Given the description of an element on the screen output the (x, y) to click on. 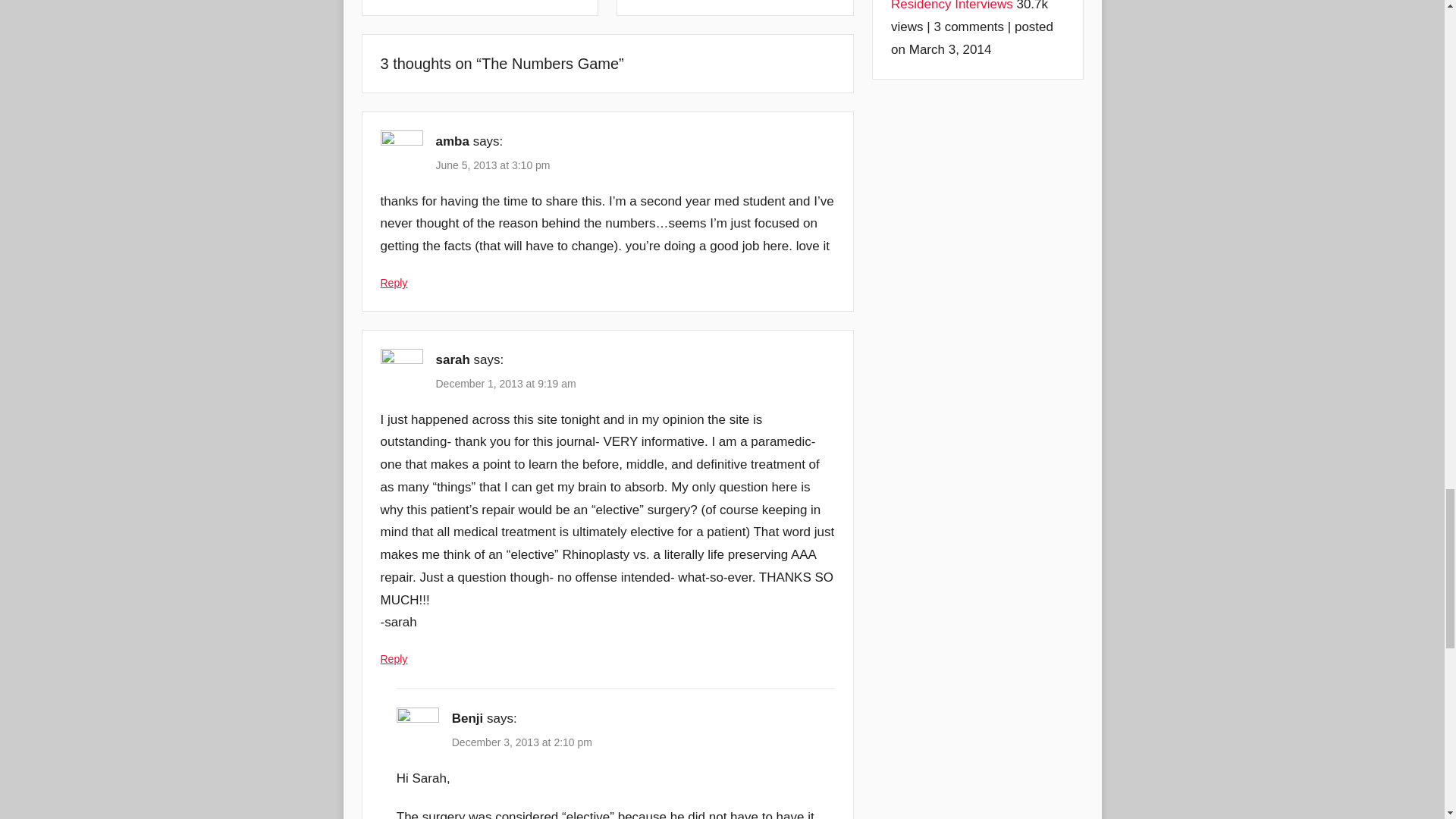
December 1, 2013 at 9:19 am (505, 383)
December 3, 2013 at 2:10 pm (521, 742)
Reply (393, 658)
June 5, 2013 at 3:10 pm (492, 164)
Reply (393, 282)
